Given the description of an element on the screen output the (x, y) to click on. 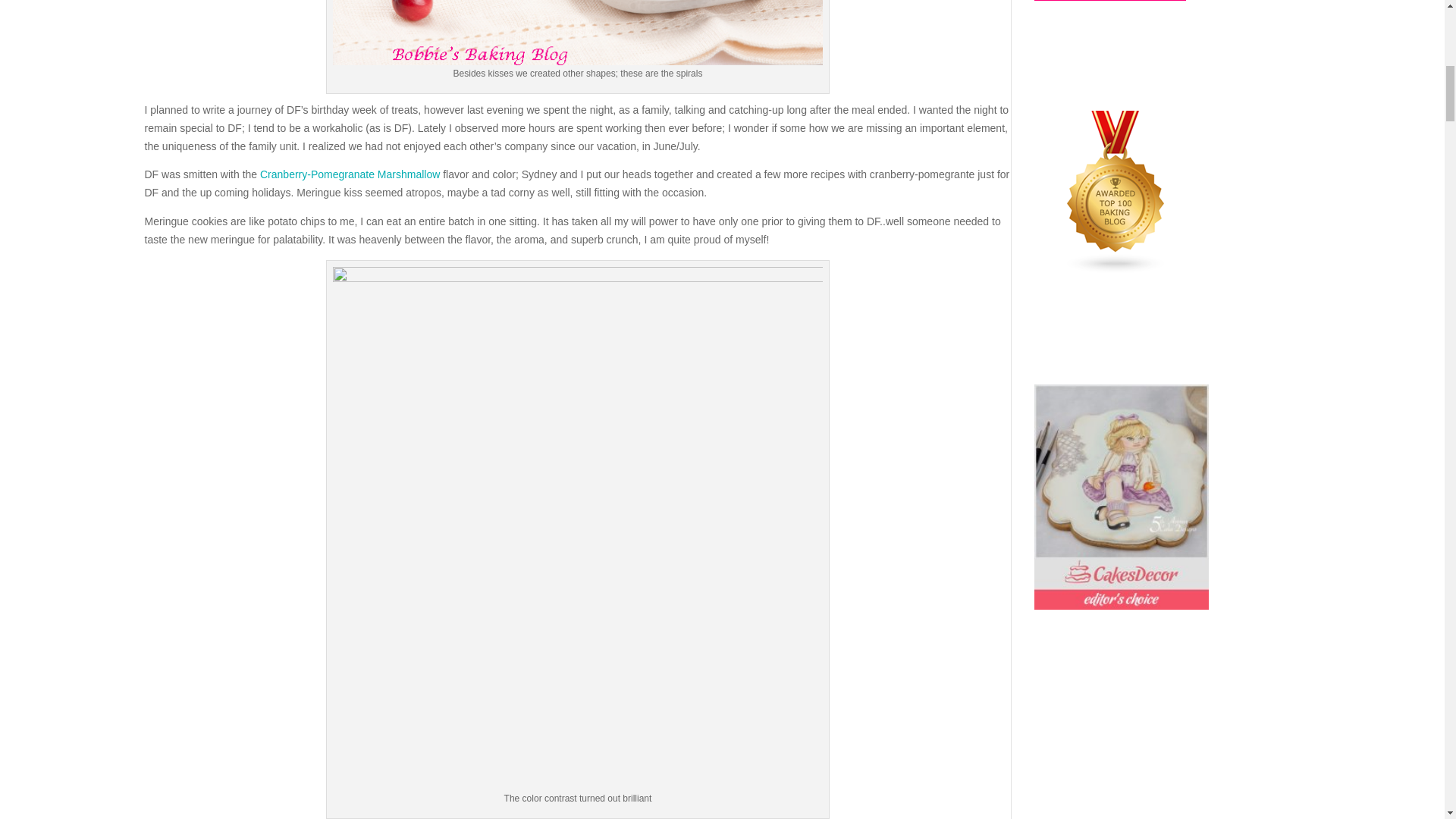
Oh Marshmallow, Oh Marshmallow, How do I Love Thee Taste (349, 174)
meringue4828 (577, 32)
